Given the description of an element on the screen output the (x, y) to click on. 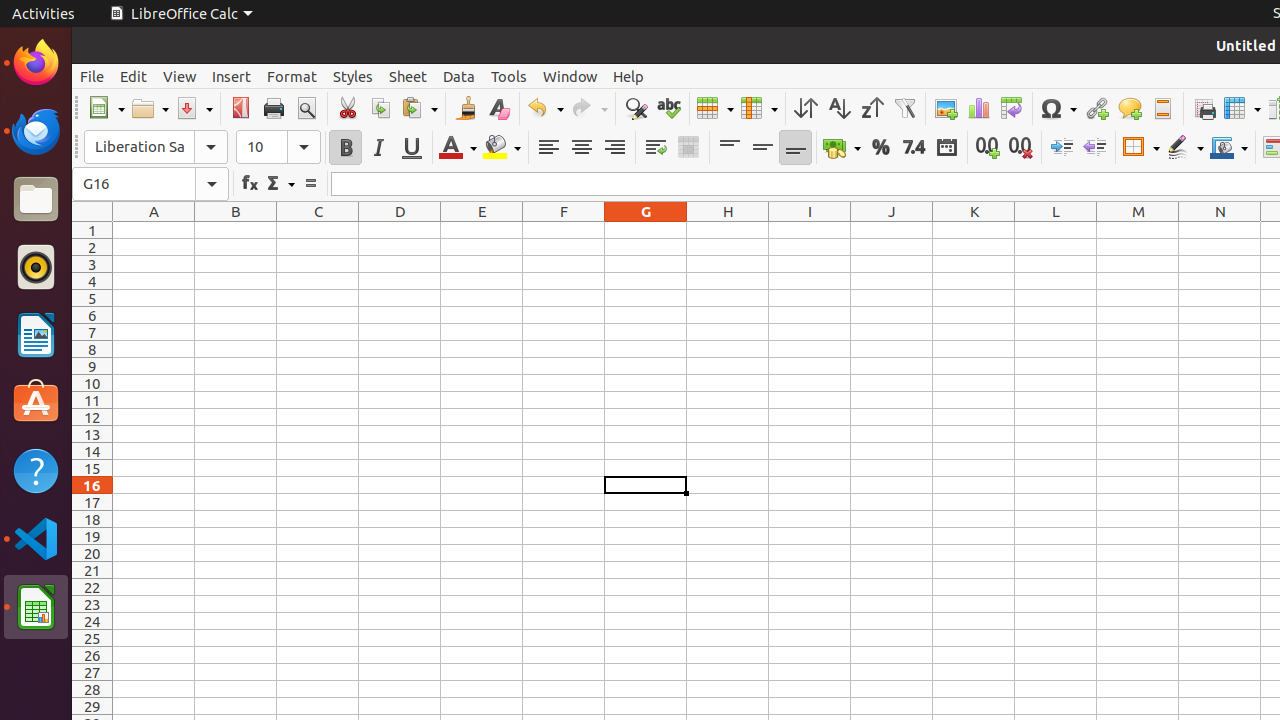
Visual Studio Code Element type: push-button (36, 538)
Font Size Element type: combo-box (278, 147)
Column Element type: push-button (759, 108)
Background Color Element type: push-button (502, 147)
